Given the description of an element on the screen output the (x, y) to click on. 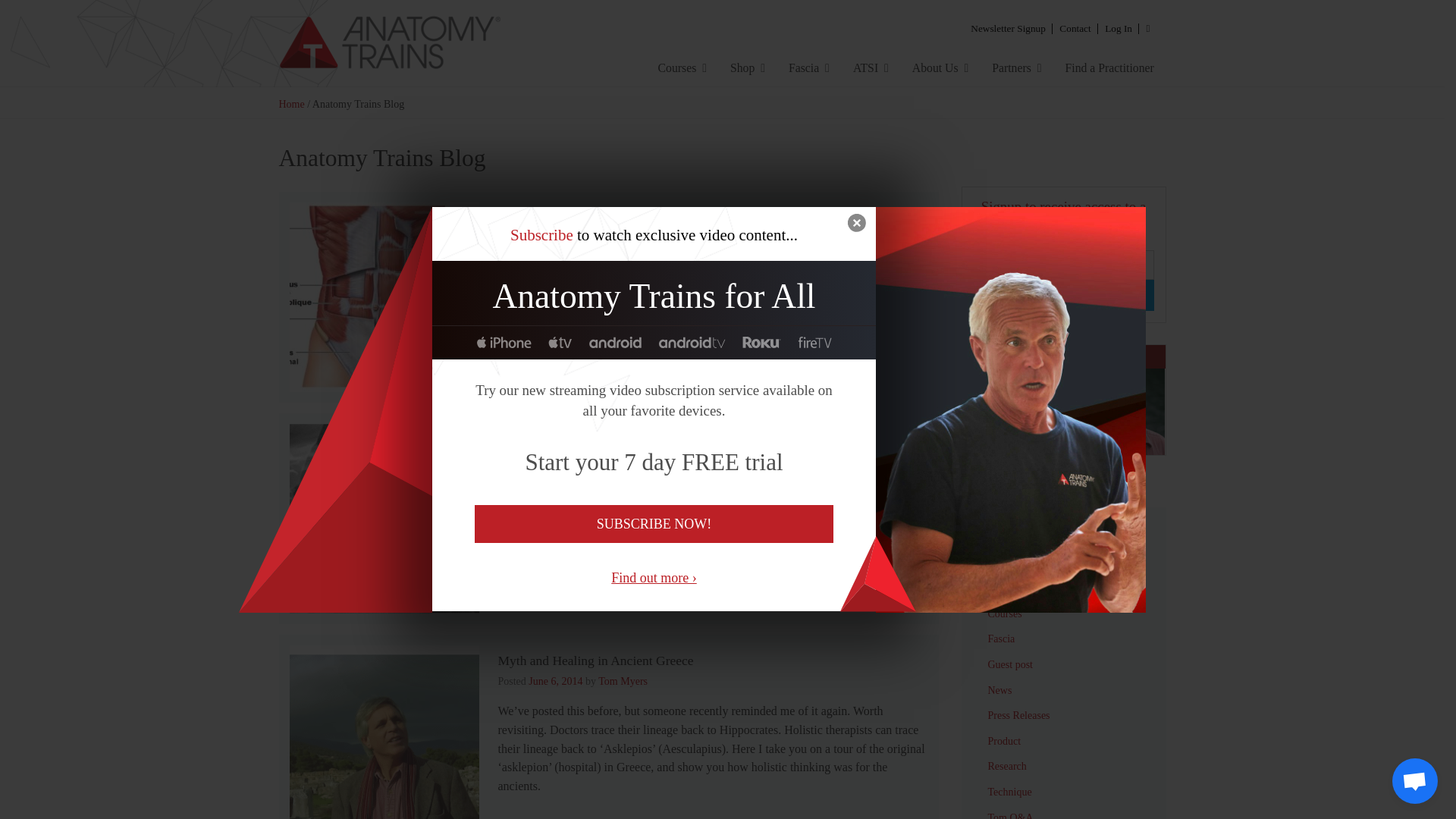
Newsletter Signup (1007, 27)
SUBSCRIBE NOW! (653, 523)
Log In (1117, 27)
Courses (682, 67)
Sign Up (1064, 295)
Contact (1074, 27)
Log In (1117, 27)
Newsletter Signup (1007, 27)
Shop (747, 67)
Fascia (808, 67)
ATSI (870, 67)
Contact Us (1074, 27)
Courses (682, 67)
Anatomy Trains (428, 43)
